Given the description of an element on the screen output the (x, y) to click on. 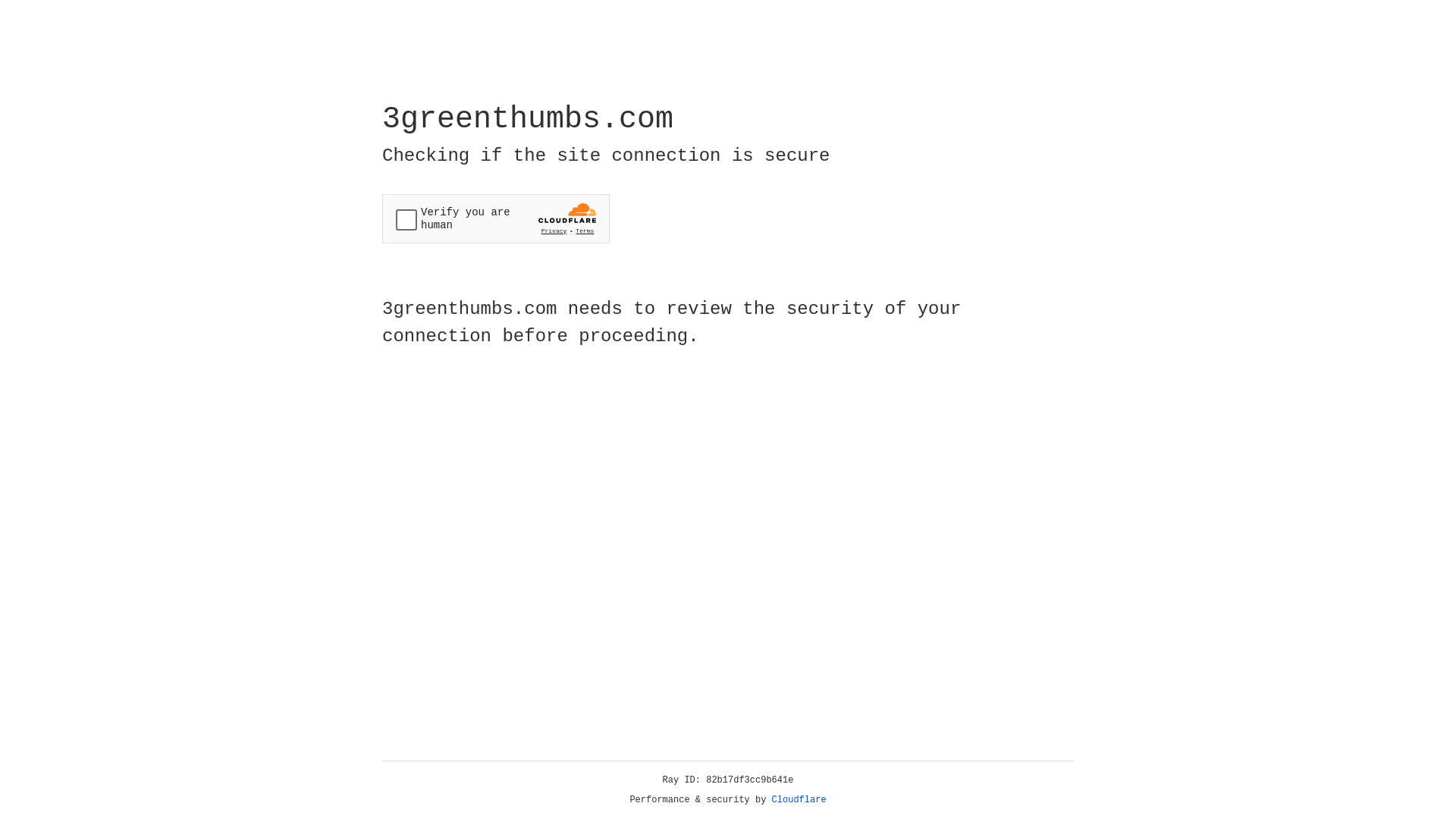
Widget containing a Cloudflare security challenge Element type: hover (495, 218)
Cloudflare Element type: text (798, 799)
